Given the description of an element on the screen output the (x, y) to click on. 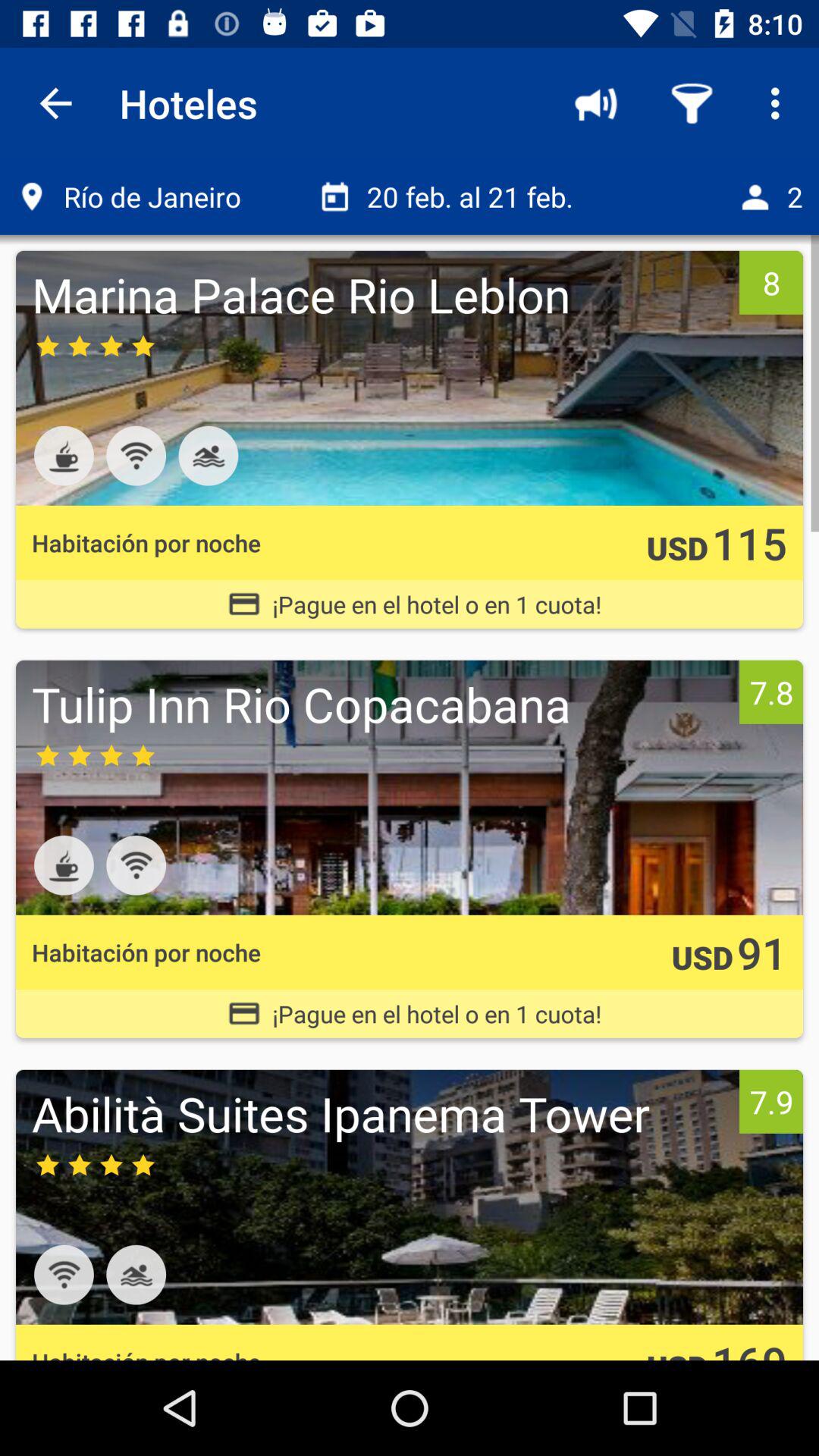
select the app to the left of hoteles (55, 103)
